Given the description of an element on the screen output the (x, y) to click on. 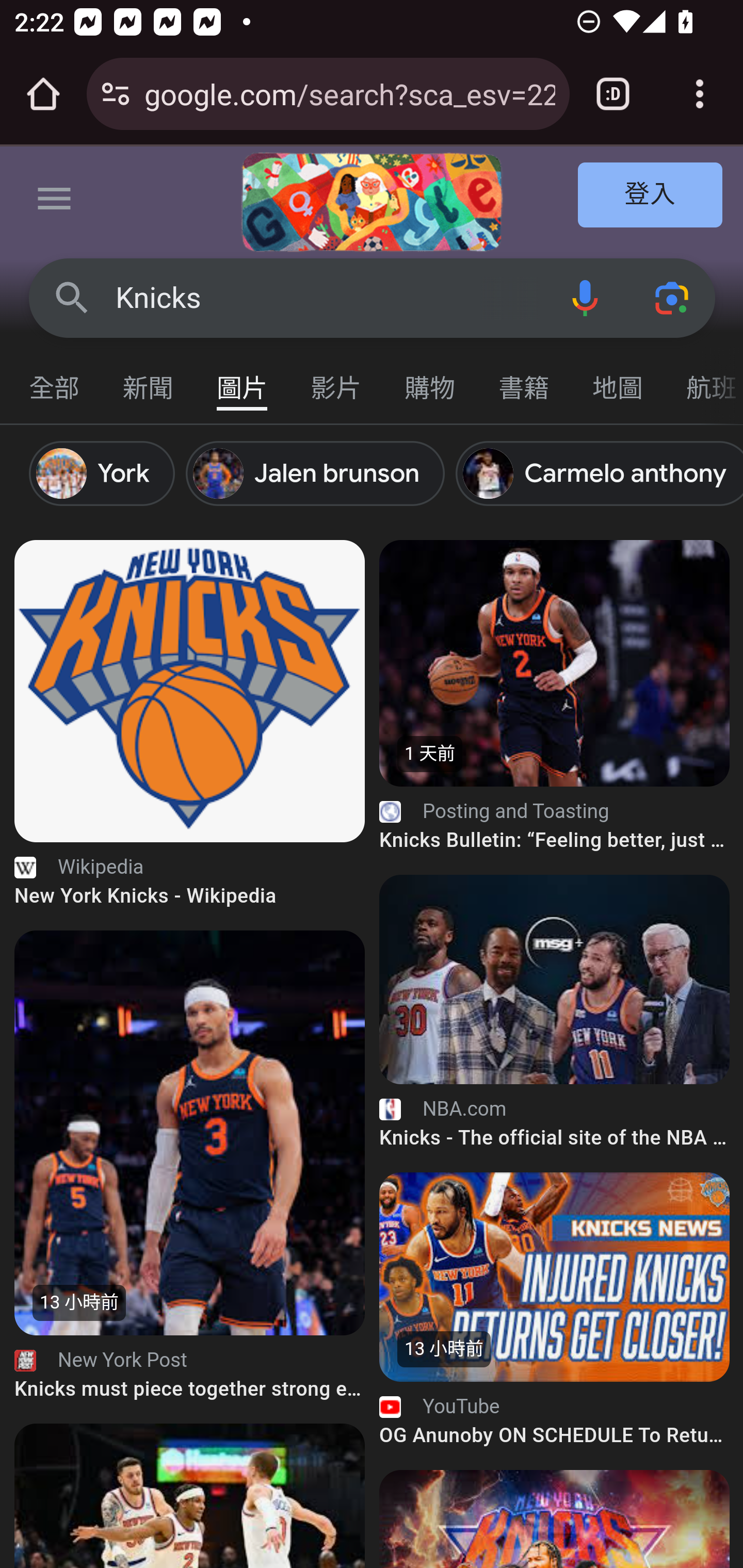
Open the home page (43, 93)
Connection is secure (115, 93)
Switch or close tabs (612, 93)
Customize and control Google Chrome (699, 93)
2024 年國際婦女節 (371, 202)
主選單 (54, 202)
登入 (650, 195)
Google 搜尋 (71, 296)
使用相機或相片搜尋 (672, 296)
Knicks (328, 297)
全部 (54, 378)
新聞 (148, 378)
影片 (336, 378)
購物 (430, 378)
書籍 (524, 378)
地圖 (618, 378)
航班 (703, 378)
新增York York (106, 473)
新增Jalen brunson Jalen brunson (320, 473)
新增Carmelo anthony Carmelo anthony (598, 473)
New York Knicks - Wikipedia (190, 690)
